Given the description of an element on the screen output the (x, y) to click on. 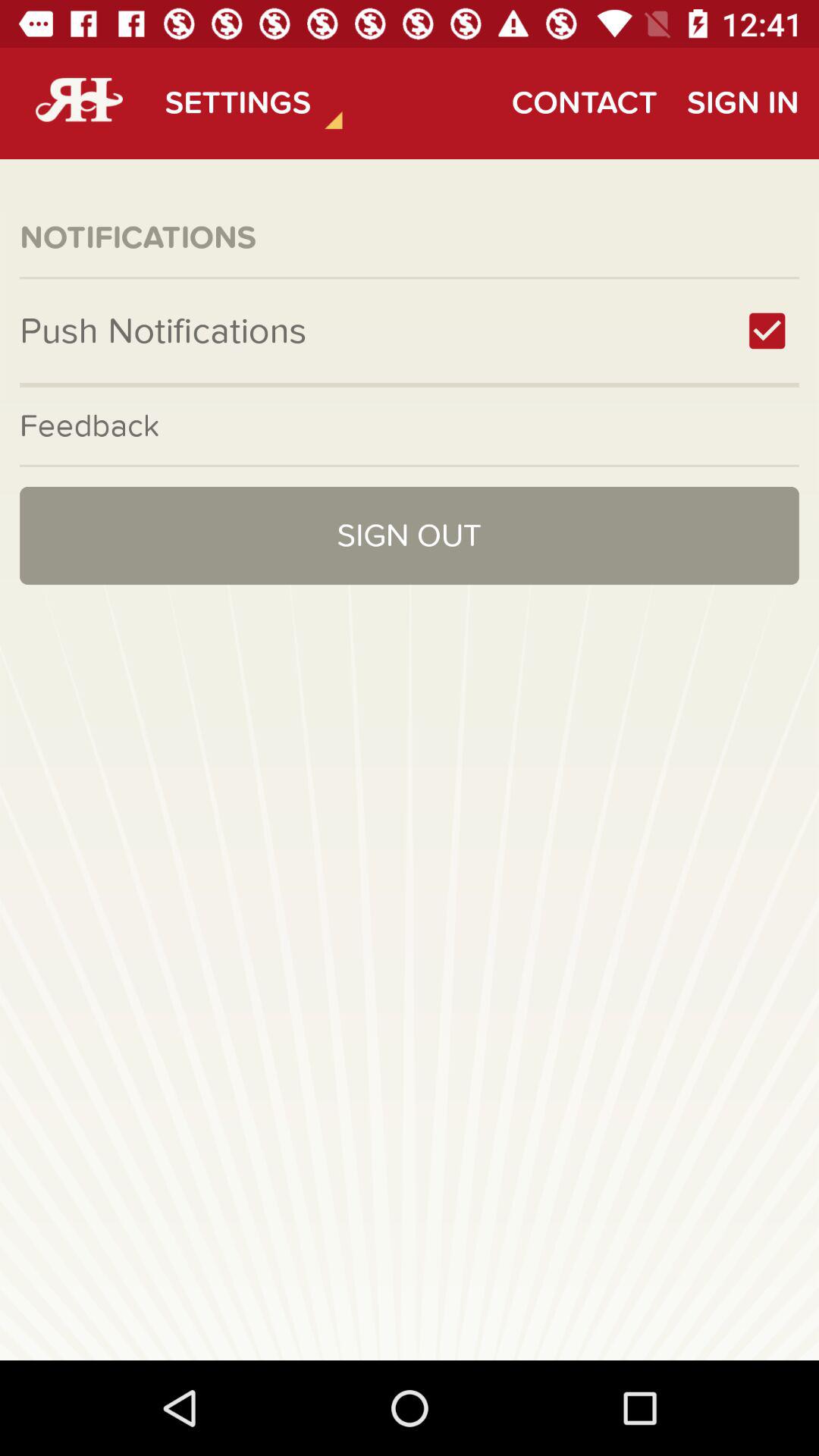
flip until the contact item (583, 103)
